Given the description of an element on the screen output the (x, y) to click on. 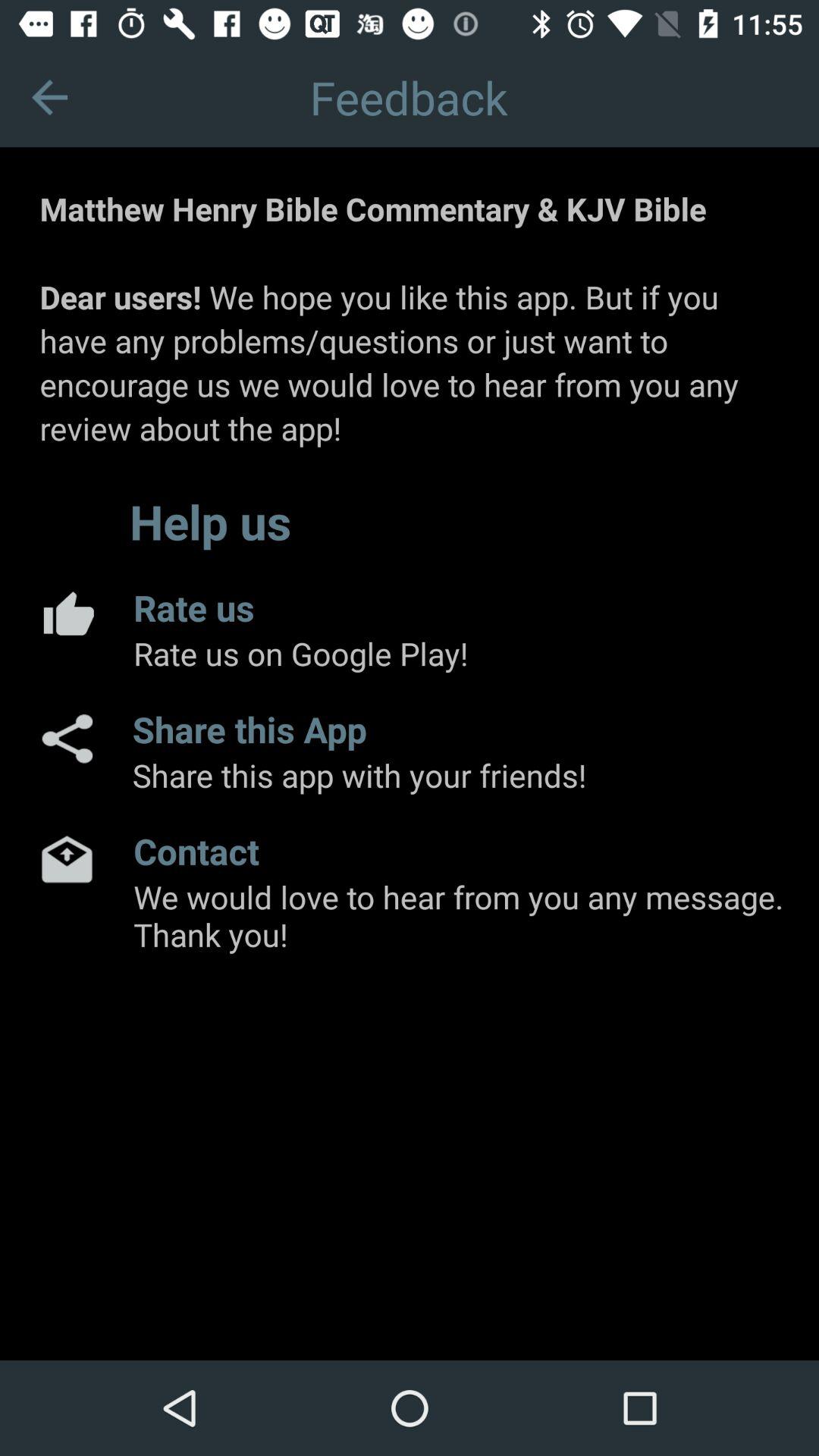
select the icon to the left of the share this app (65, 738)
